Given the description of an element on the screen output the (x, y) to click on. 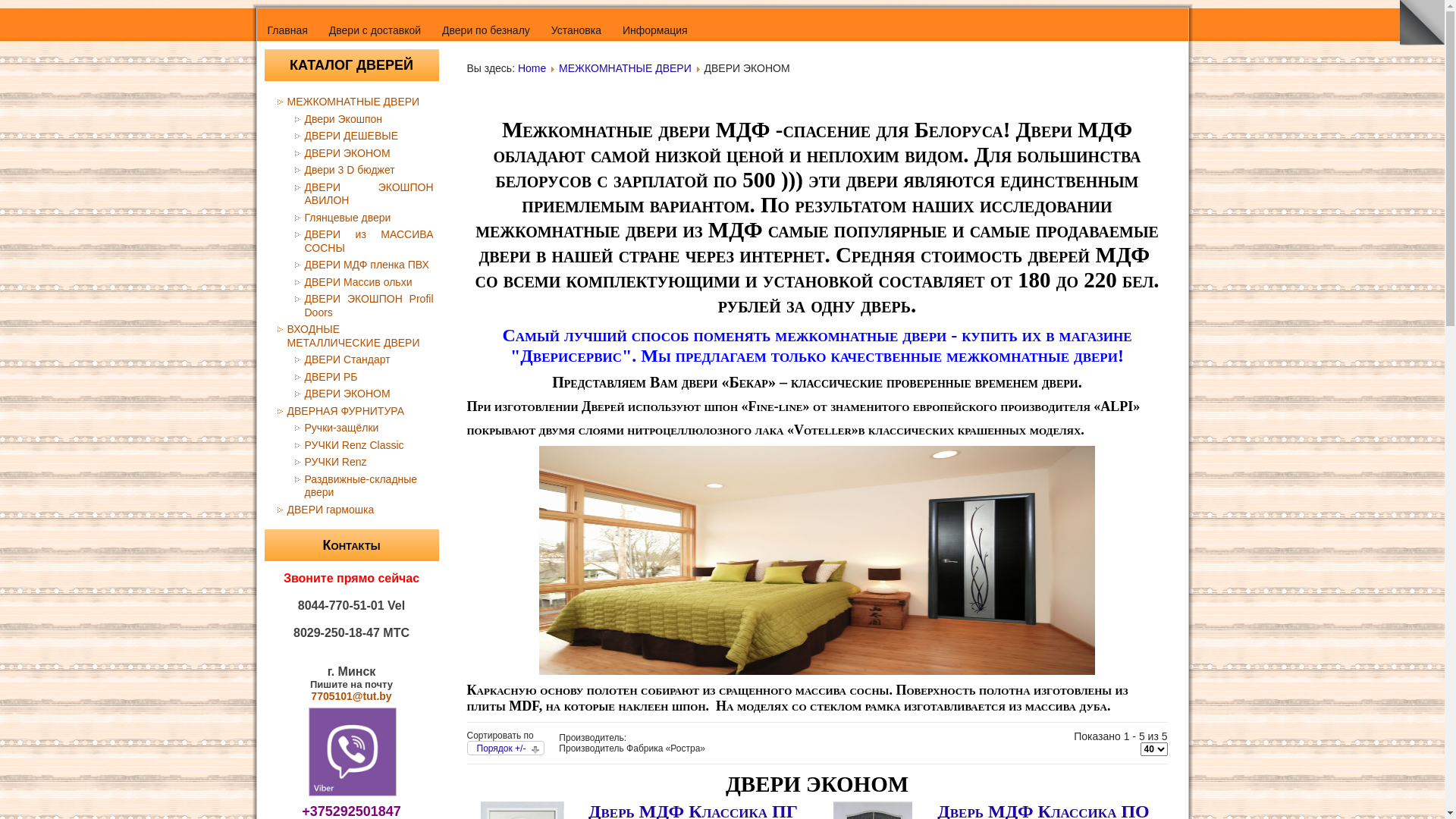
7705101@tut.by Element type: text (350, 696)
Home Element type: text (531, 68)
